Given the description of an element on the screen output the (x, y) to click on. 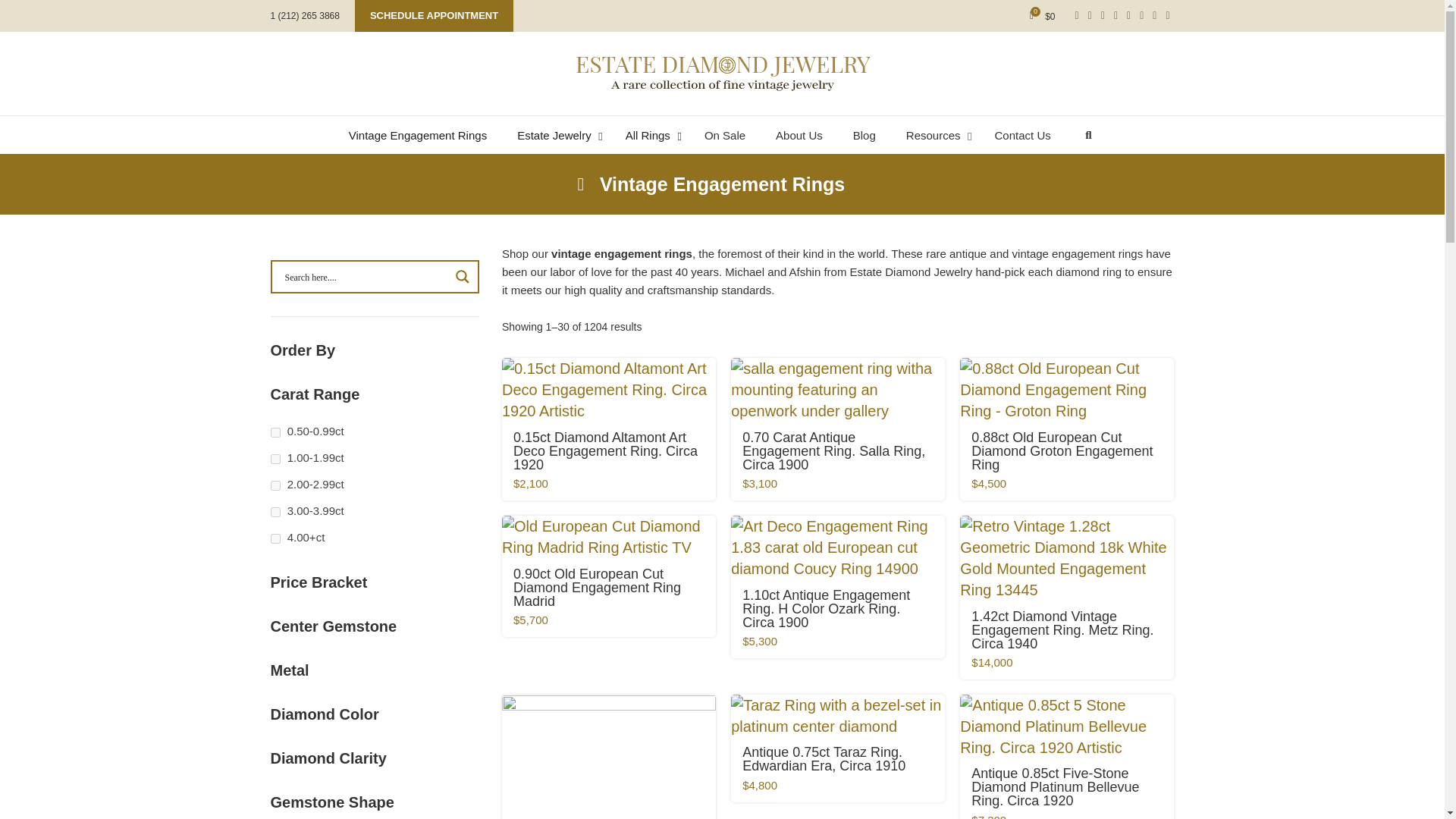
2-99 (274, 485)
0-99 (274, 432)
1-99 (274, 459)
All Rings (649, 135)
4-99 (274, 538)
3-99 (274, 511)
Estate Jewelry (556, 135)
SCHEDULE APPOINTMENT (434, 15)
Vintage Engagement Rings (417, 135)
Shopping cart (1042, 15)
